Given the description of an element on the screen output the (x, y) to click on. 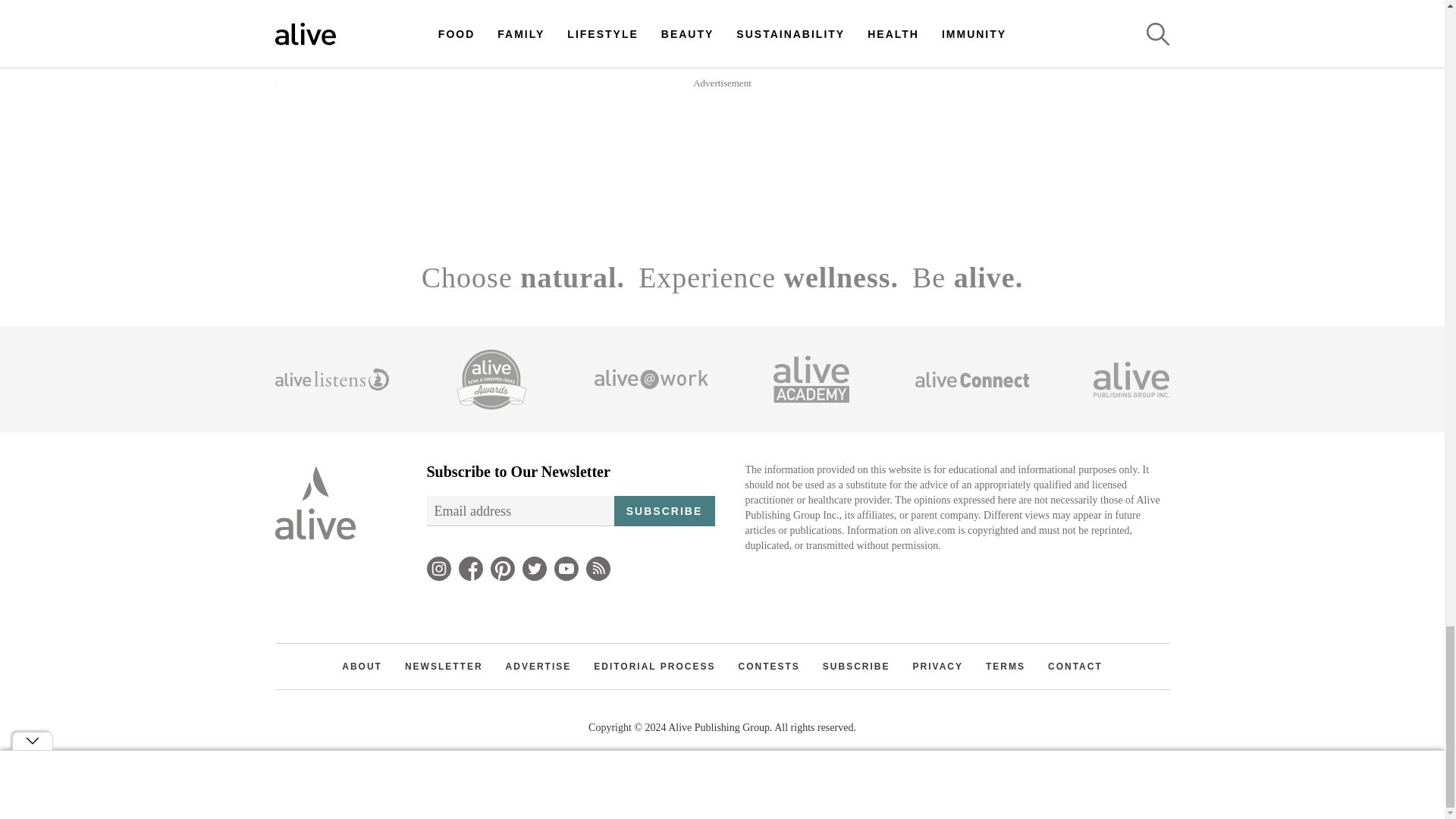
LIFESTYLE (608, 119)
SUSTAINABILITY (541, 60)
HEALTH (1062, 119)
HEALTH (1015, 60)
